Given the description of an element on the screen output the (x, y) to click on. 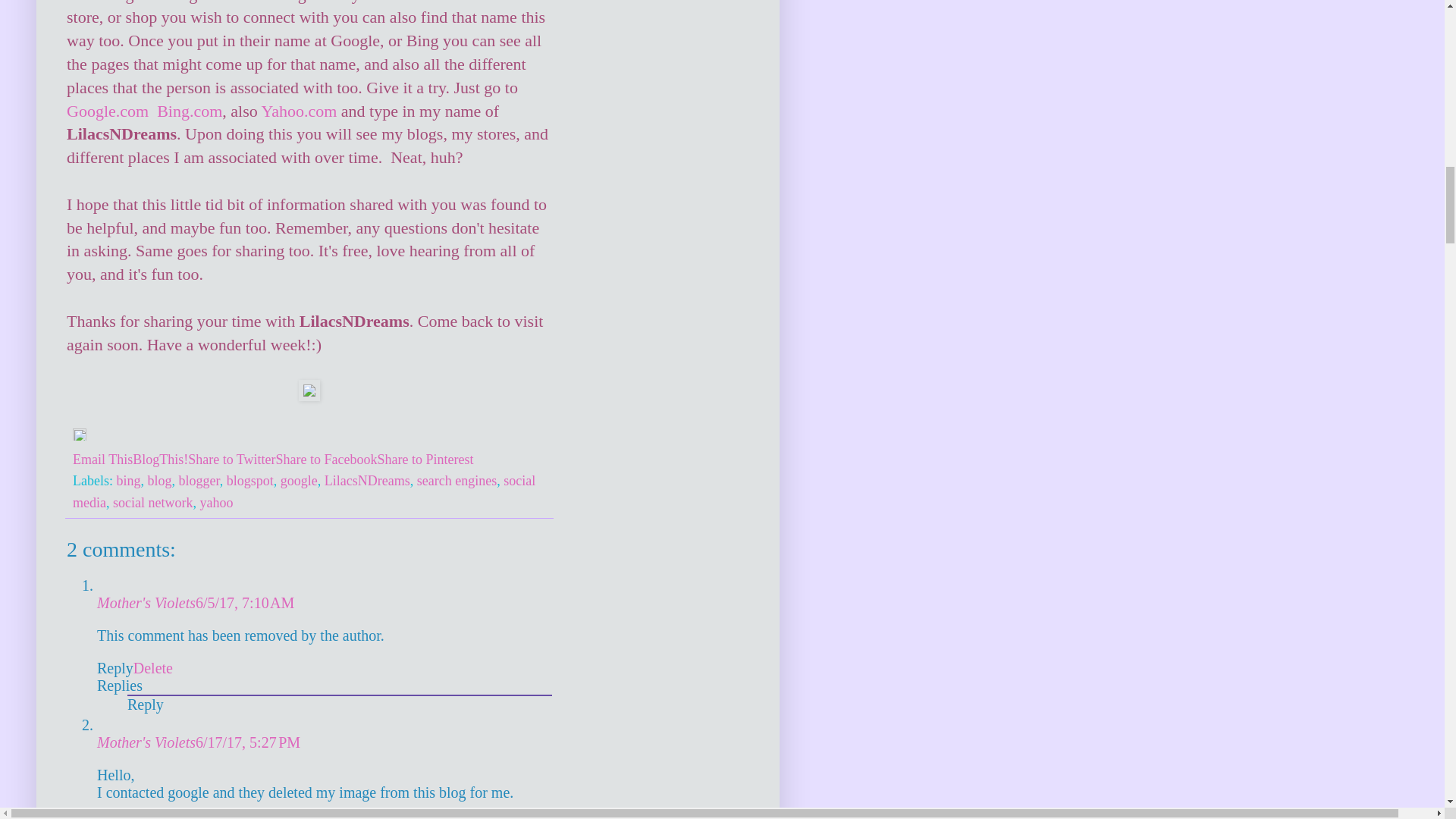
yahoo (215, 502)
bing (127, 480)
Delete (153, 668)
Share to Pinterest (425, 459)
blogspot (250, 480)
social media (303, 491)
Email This (102, 459)
blog (159, 480)
blogger (199, 480)
Share to Twitter (231, 459)
Yahoo.com (298, 110)
search engines (456, 480)
Bing.com (189, 110)
Google.com (107, 110)
google (299, 480)
